Given the description of an element on the screen output the (x, y) to click on. 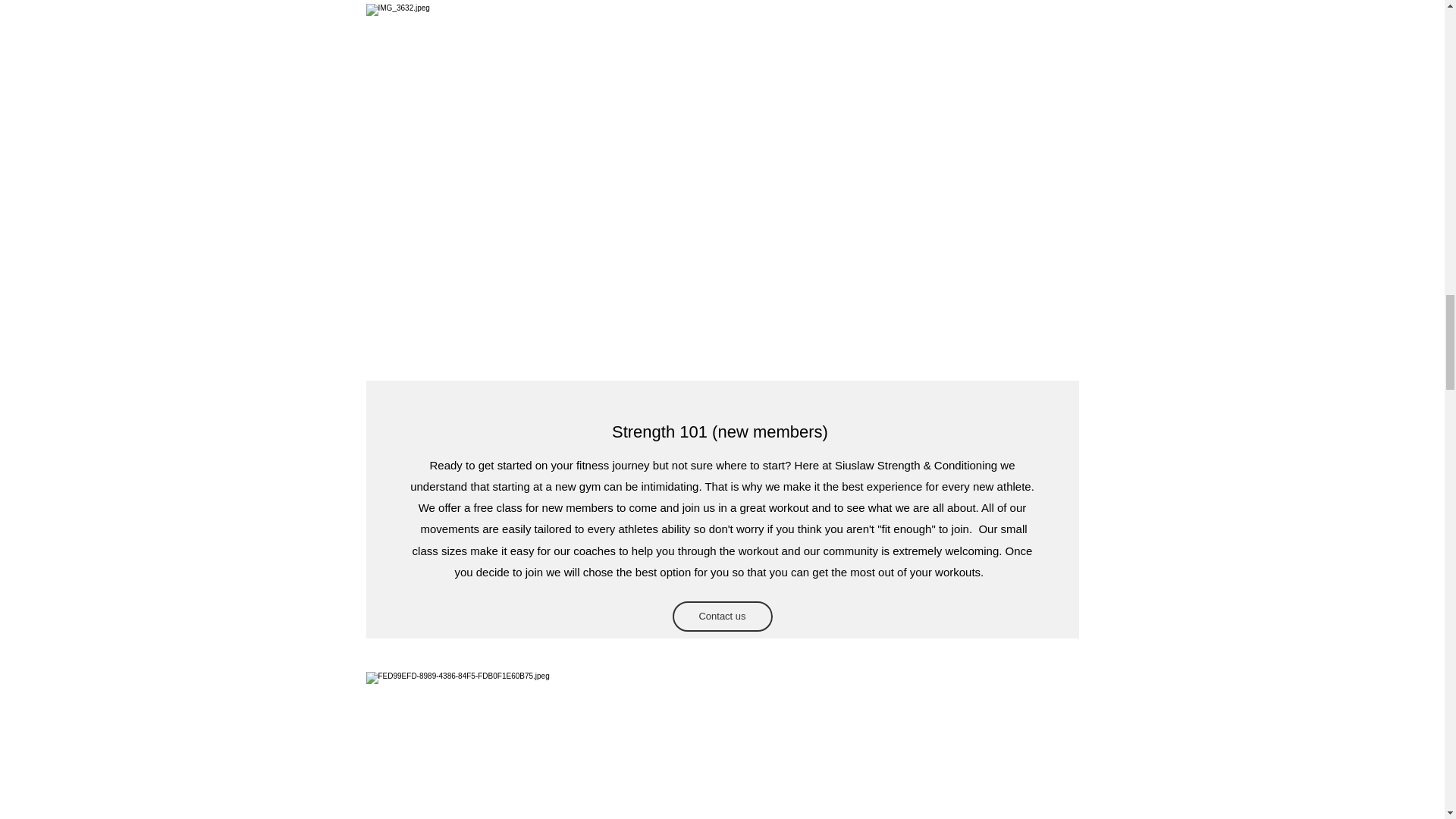
Contact us (721, 616)
